Given the description of an element on the screen output the (x, y) to click on. 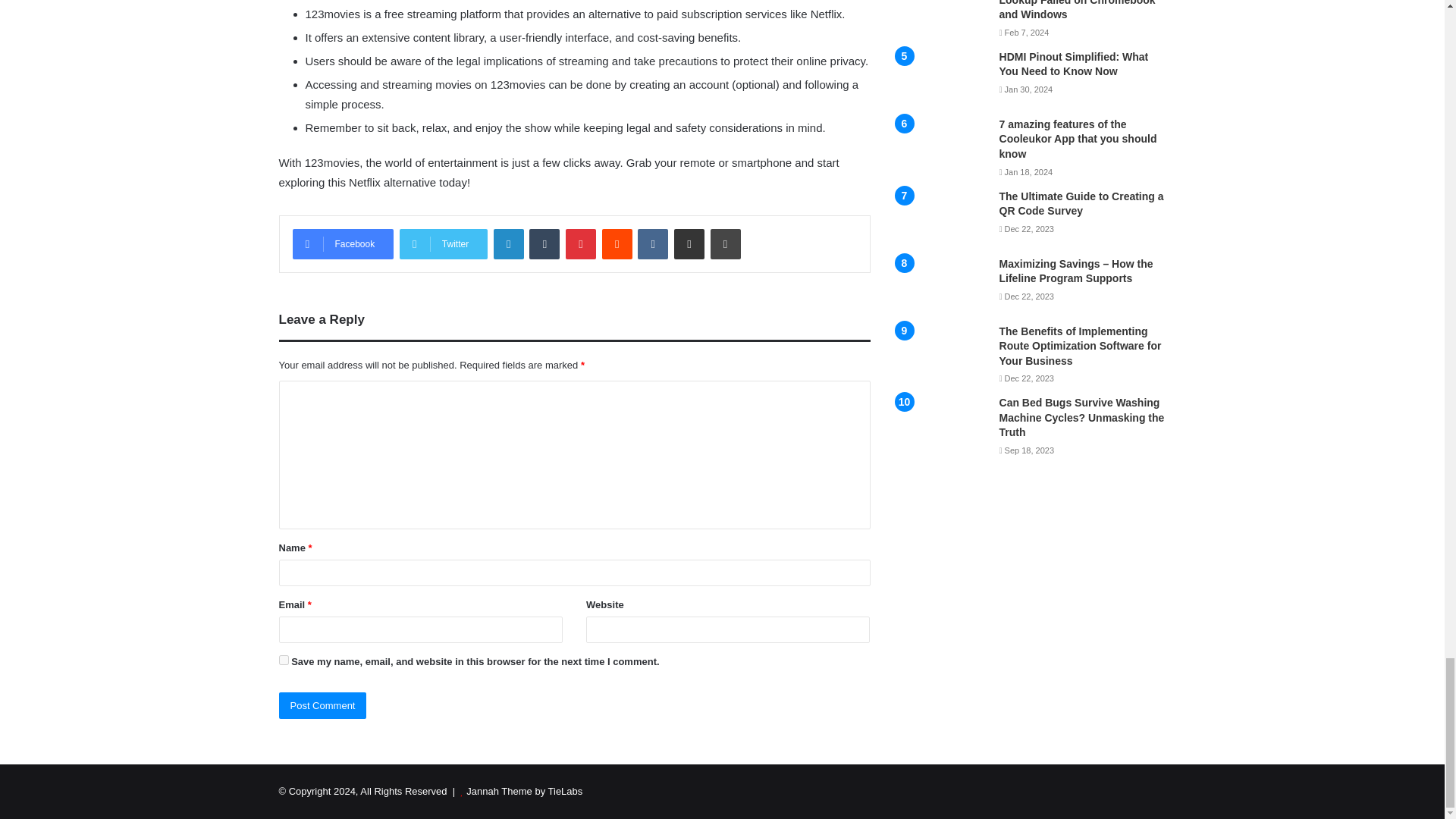
Twitter (442, 244)
VKontakte (652, 244)
Reddit (616, 244)
Twitter (442, 244)
Pinterest (580, 244)
Post Comment (322, 705)
VKontakte (652, 244)
Reddit (616, 244)
yes (283, 660)
Tumblr (544, 244)
Facebook (343, 244)
Facebook (343, 244)
LinkedIn (508, 244)
Print (725, 244)
Pinterest (580, 244)
